Given the description of an element on the screen output the (x, y) to click on. 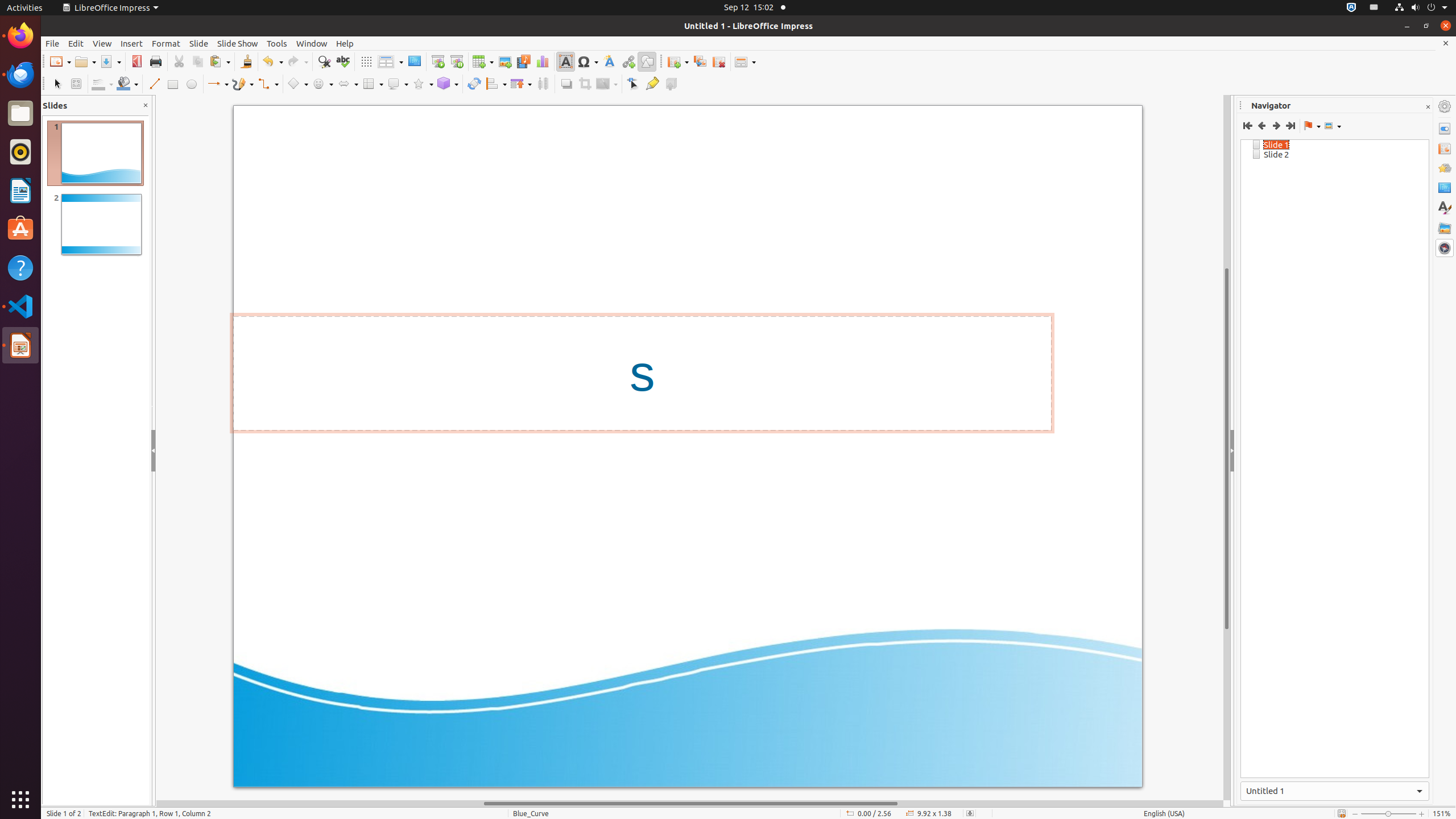
Distribution Element type: push-button (542, 83)
Edit Element type: menu (75, 43)
Cut Element type: push-button (178, 61)
Tools Element type: menu (276, 43)
